Given the description of an element on the screen output the (x, y) to click on. 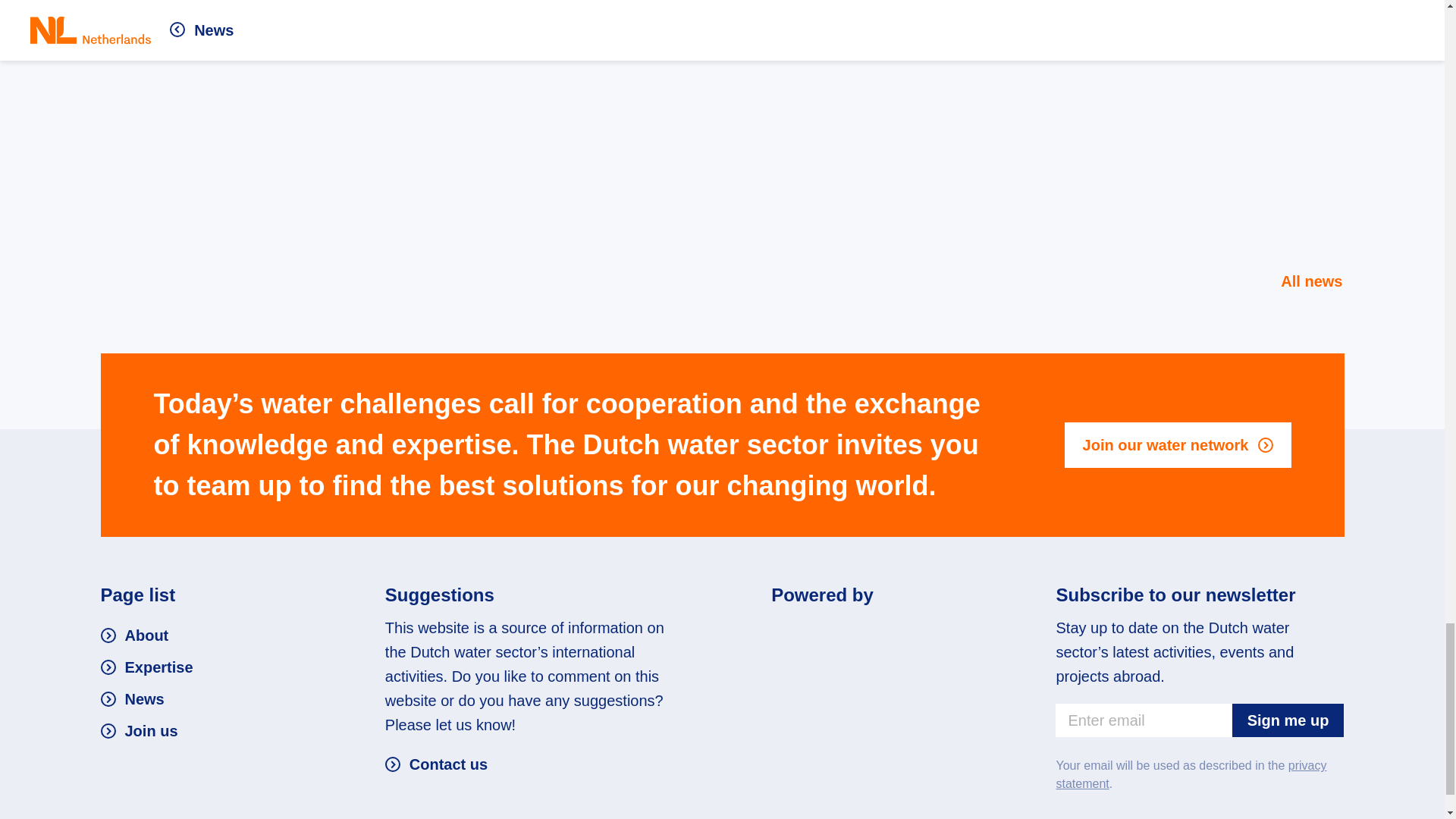
Expertise (146, 667)
Image (864, 635)
Join our water network (1177, 444)
privacy statement (1190, 774)
News (131, 699)
Join us (138, 730)
Contact us (436, 764)
Sign me up (1287, 720)
All news (1300, 281)
Sign me up (1287, 720)
About (134, 635)
